Given the description of an element on the screen output the (x, y) to click on. 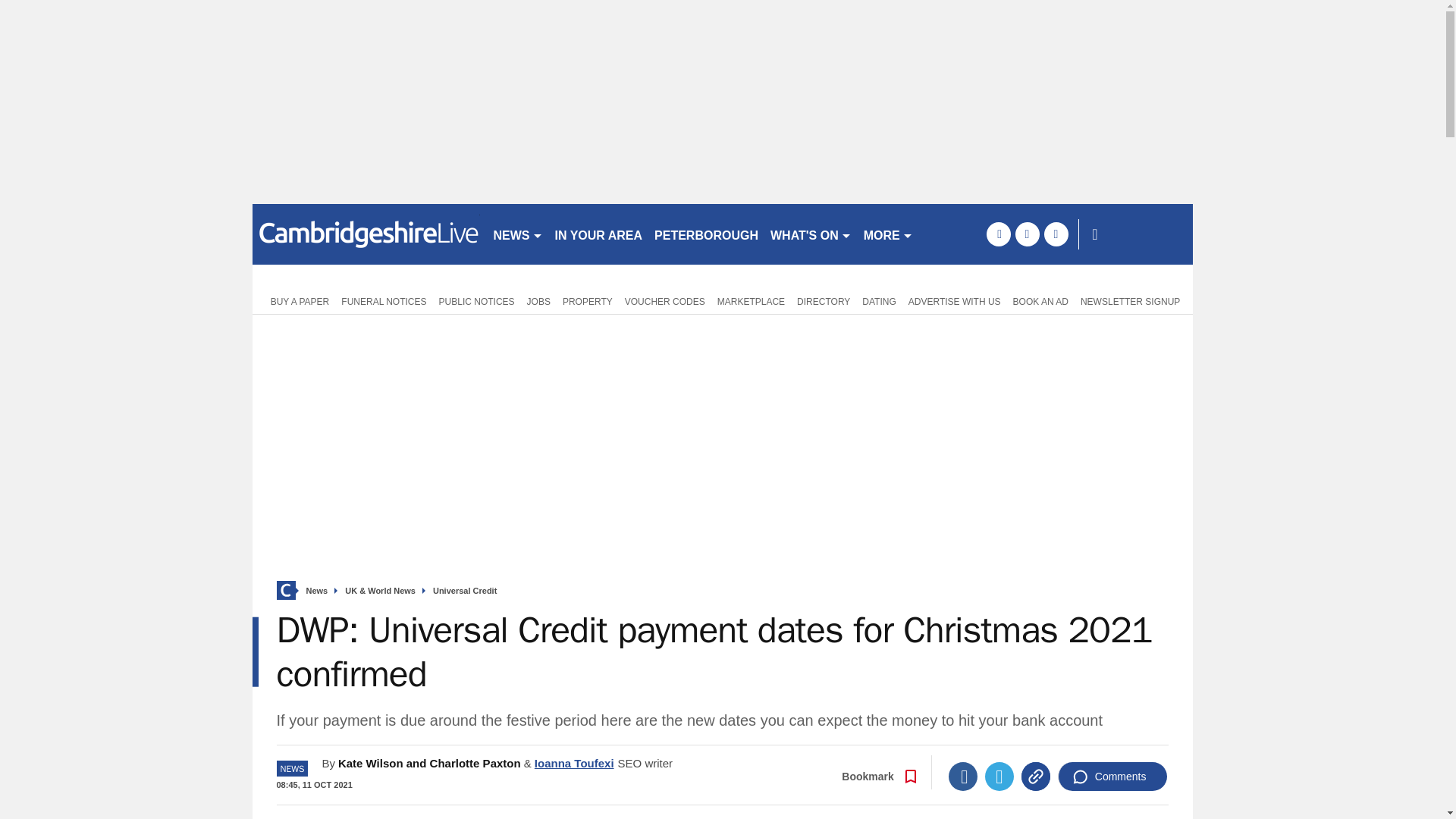
PETERBOROUGH (705, 233)
instagram (1055, 233)
IN YOUR AREA (598, 233)
NEWS (517, 233)
Twitter (999, 776)
Comments (1112, 776)
facebook (997, 233)
Facebook (962, 776)
MORE (887, 233)
cambridgenews (365, 233)
